Given the description of an element on the screen output the (x, y) to click on. 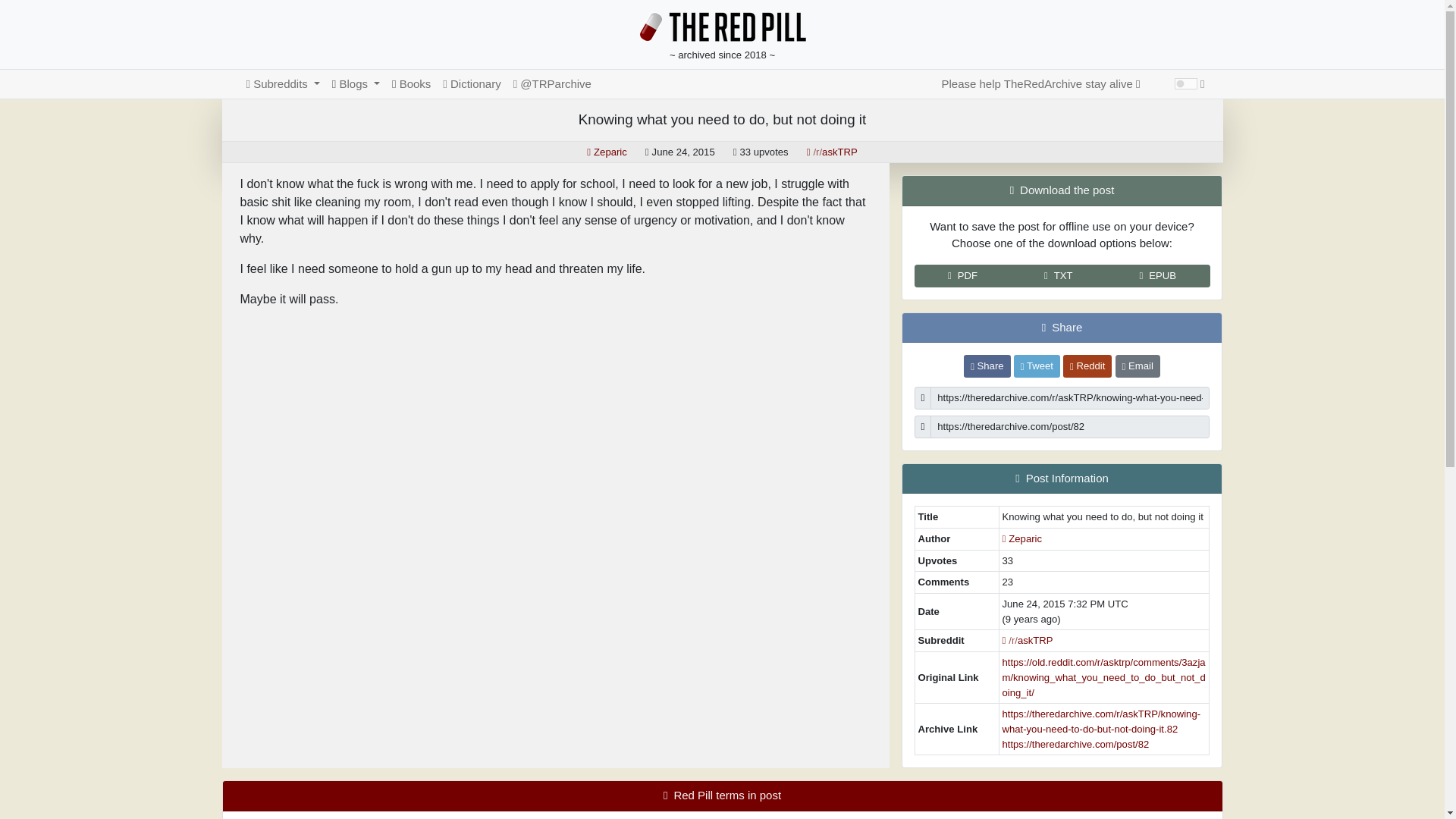
Share this post on Facebook (986, 365)
Email this post (1137, 365)
Tweet this post (1036, 365)
on (1185, 83)
Share this post on Reddit (1087, 365)
Subreddits (282, 84)
